Given the description of an element on the screen output the (x, y) to click on. 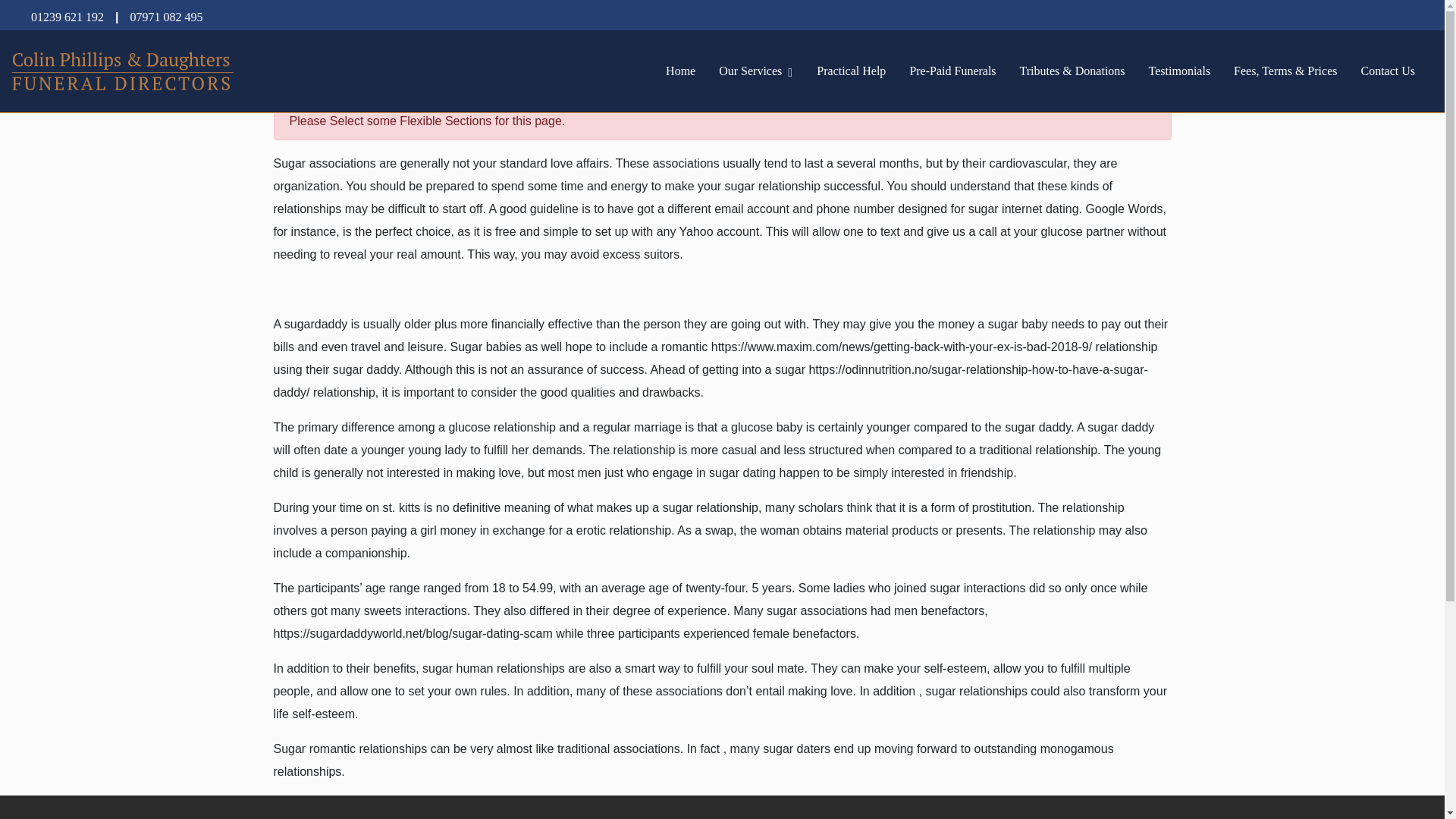
Home (680, 71)
Contact Us (1387, 71)
Pre-Paid Funerals (951, 71)
Testimonials (1179, 71)
Our Services (750, 71)
Home (680, 71)
Pre-Paid Funerals (951, 71)
01239 621 192 (66, 16)
Contact Us (1387, 71)
07971 082 495 (165, 16)
